Given the description of an element on the screen output the (x, y) to click on. 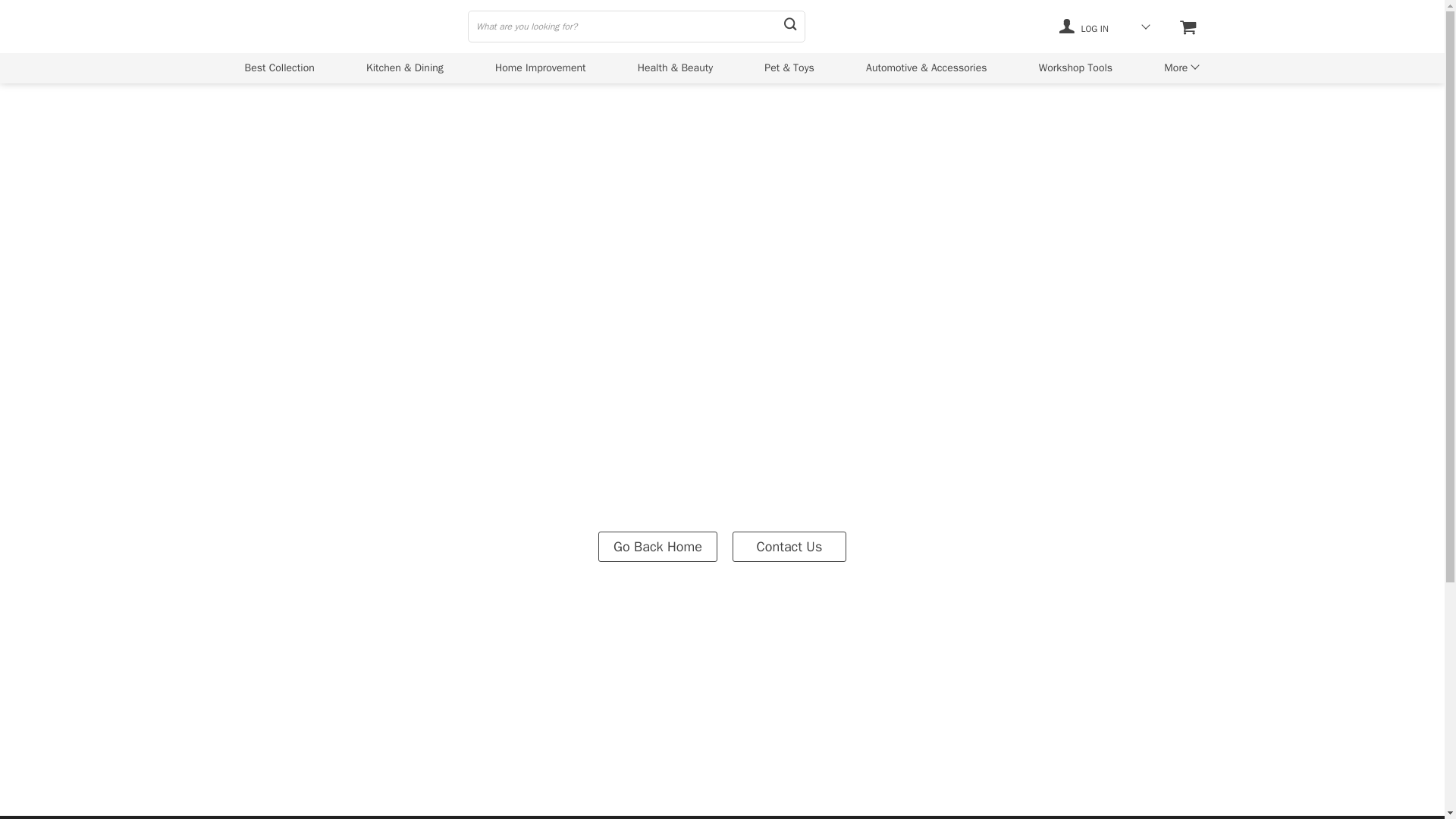
Workshop Tools (1075, 67)
Go Back Home (657, 545)
Home Improvement (540, 67)
LOG IN (1083, 25)
Best Collection (279, 67)
Contact Us (788, 545)
